Given the description of an element on the screen output the (x, y) to click on. 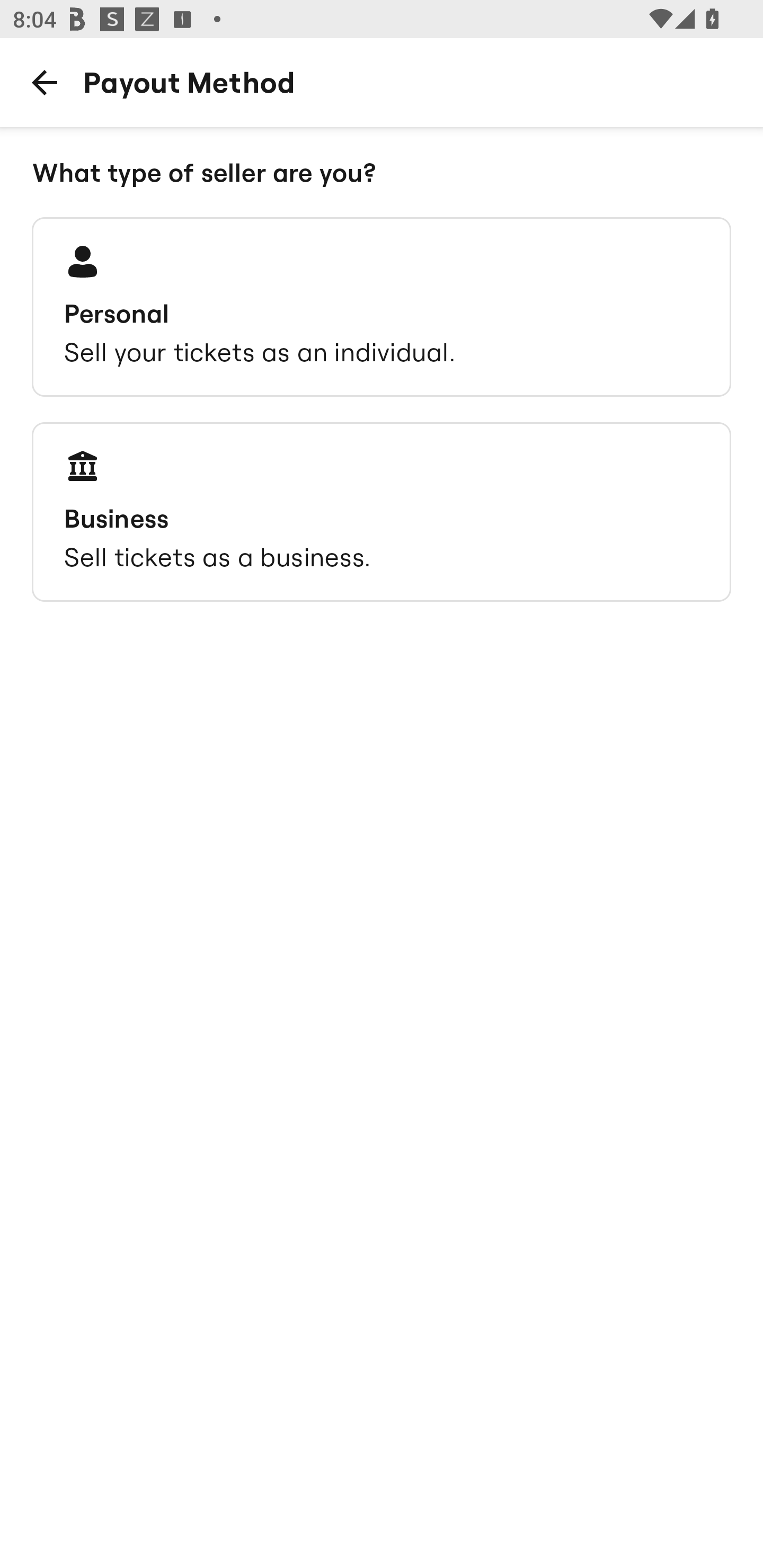
Back (44, 81)
Personal Sell your tickets as an individual. (381, 306)
Business Sell tickets as a business. (381, 511)
